Given the description of an element on the screen output the (x, y) to click on. 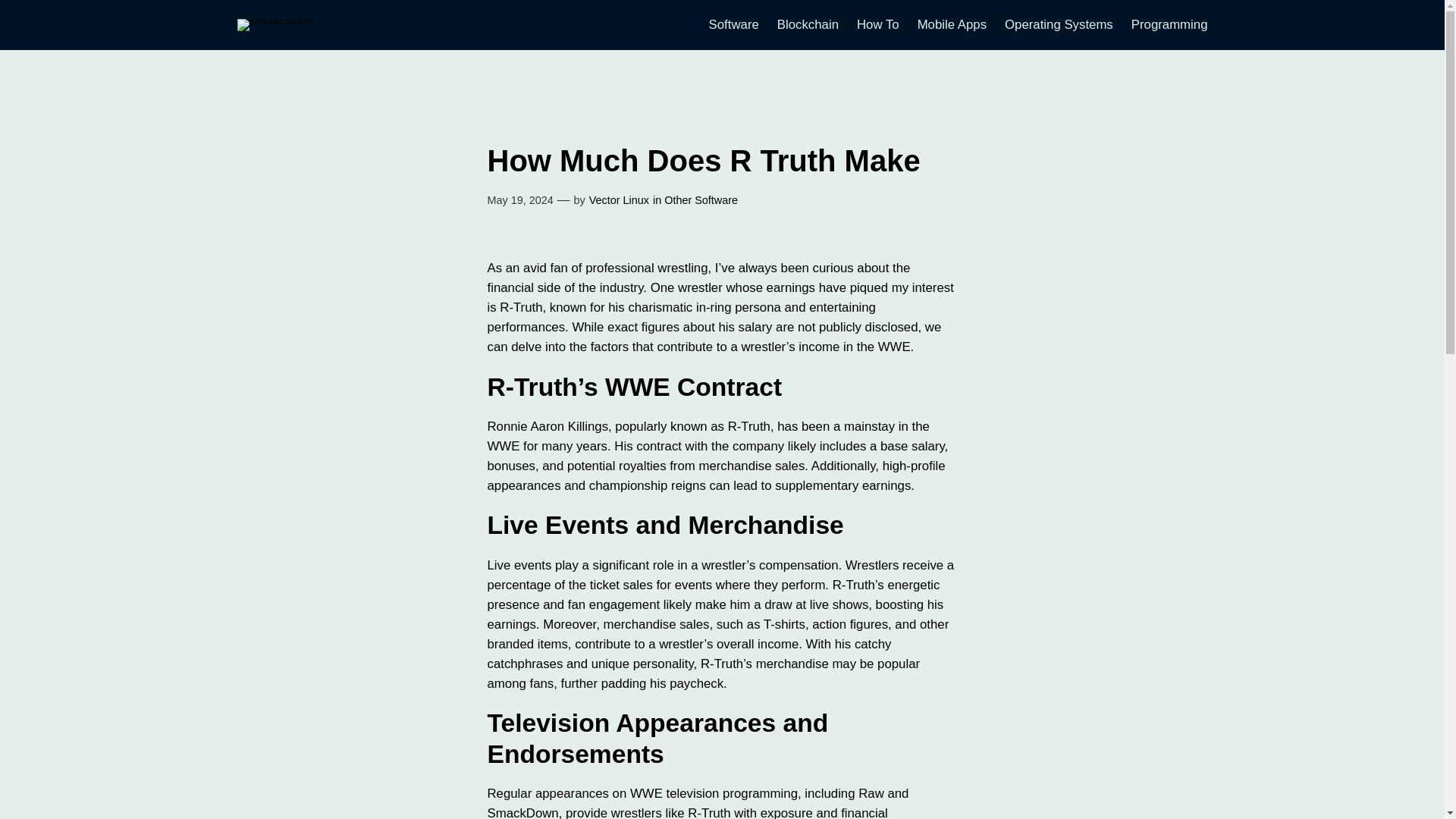
Other Software (700, 200)
Mobile Apps (952, 25)
Vector Linux (619, 200)
May 19, 2024 (519, 200)
Programming (1169, 25)
How To (878, 25)
Blockchain (807, 25)
Software (733, 25)
Operating Systems (1058, 25)
